Given the description of an element on the screen output the (x, y) to click on. 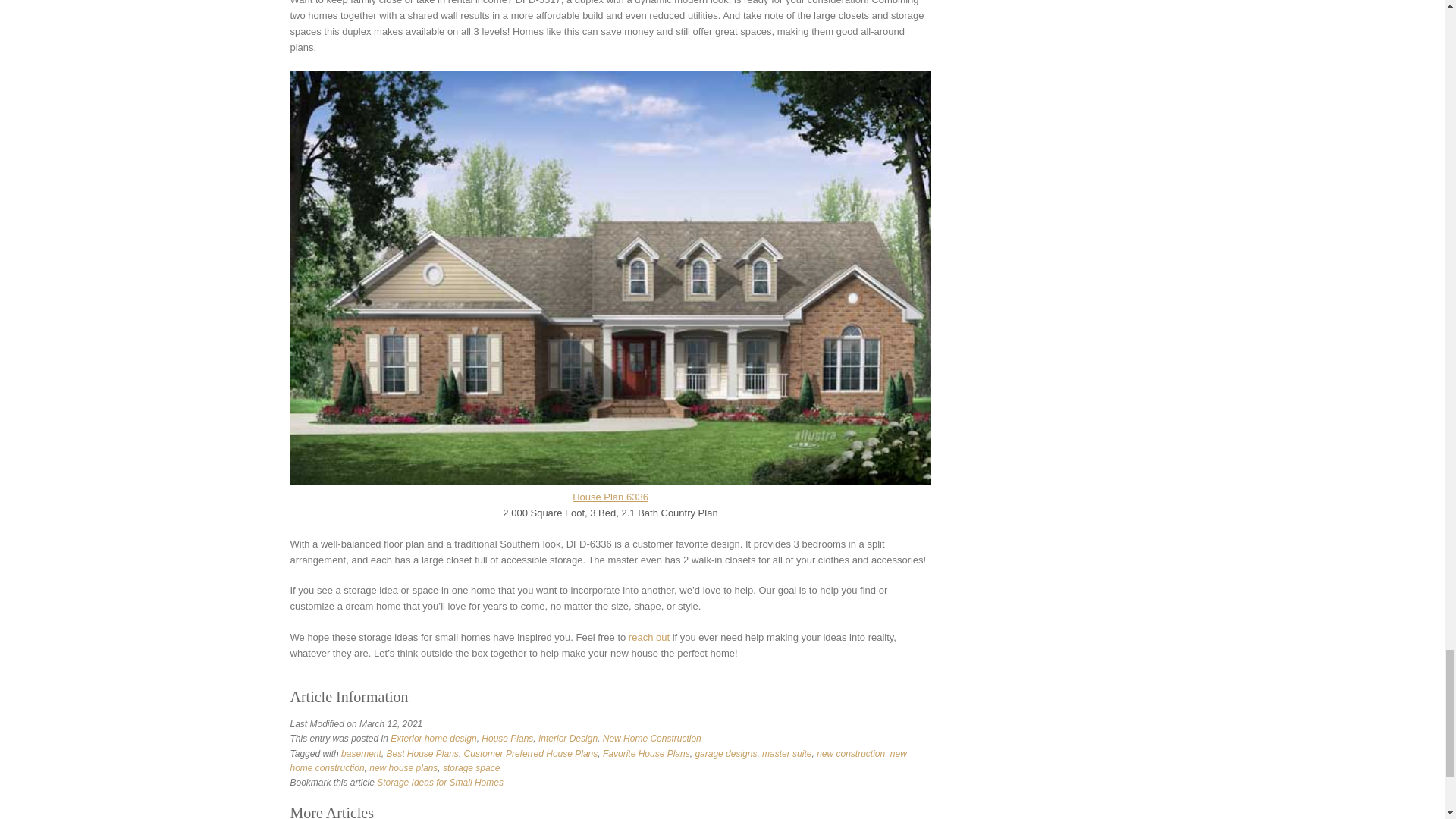
new house plans (403, 767)
Interior Design (567, 738)
Storage Ideas for Small Homes (440, 782)
Best House Plans (421, 753)
master suite (785, 753)
garage designs (725, 753)
Exterior home design (433, 738)
Favorite House Plans (646, 753)
storage space (470, 767)
reach out (648, 636)
House Plan 6336 (609, 496)
Customer Preferred House Plans (531, 753)
House Plans (506, 738)
basement (360, 753)
new home construction (597, 760)
